Given the description of an element on the screen output the (x, y) to click on. 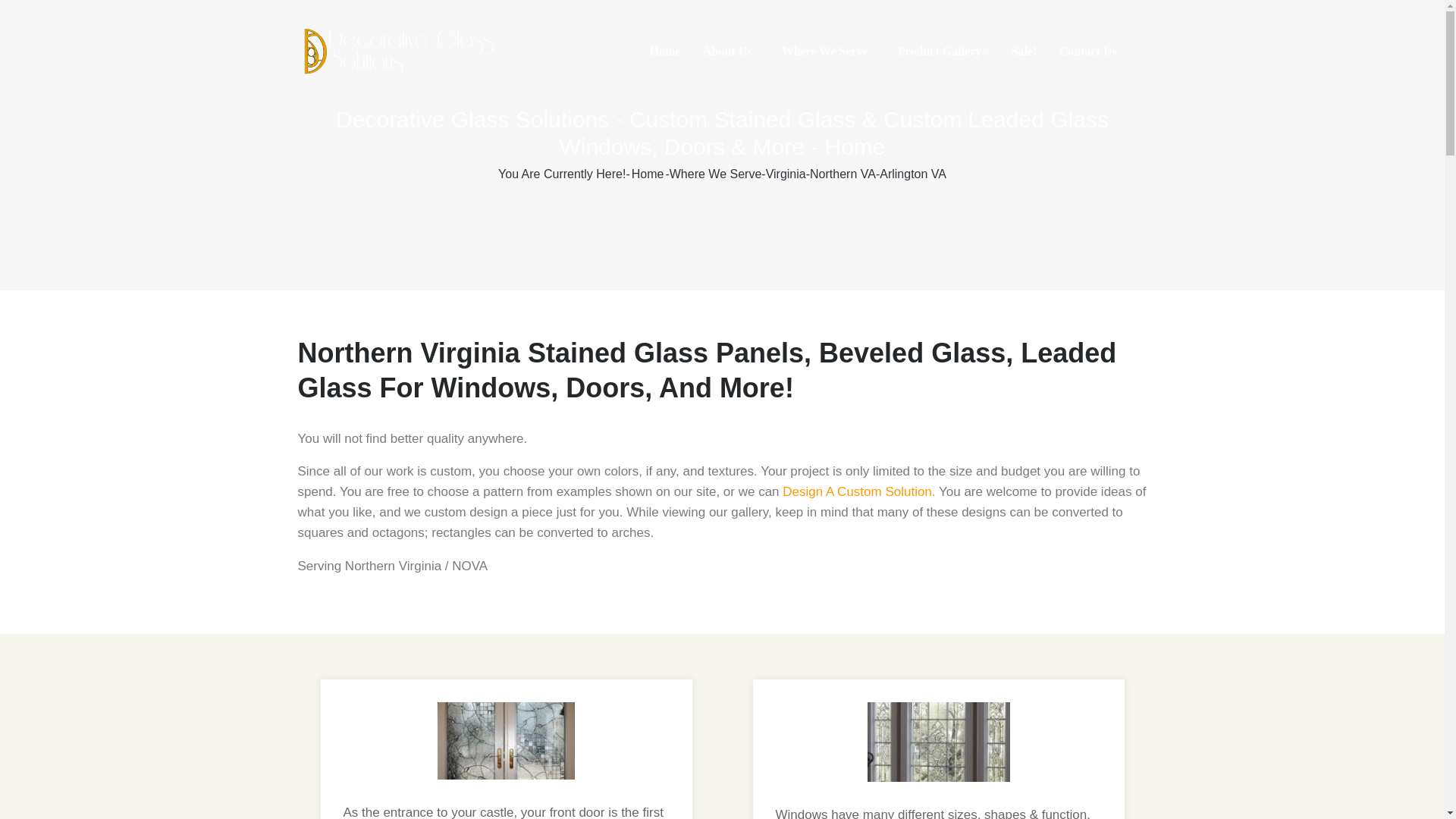
About Us (730, 51)
Home (665, 51)
Where We Serve (828, 51)
Product Gallery (943, 51)
